Given the description of an element on the screen output the (x, y) to click on. 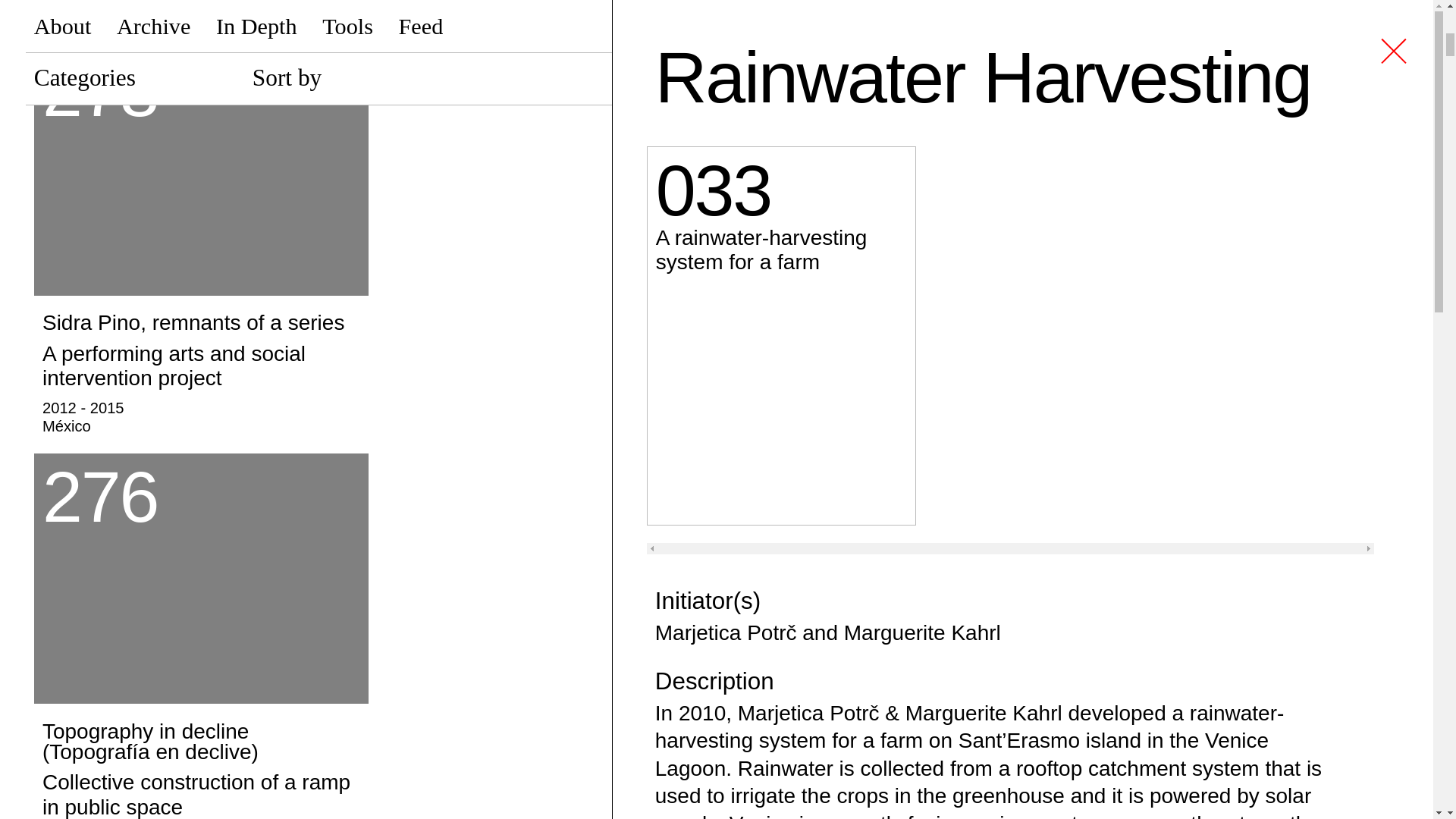
The Para-Site School (200, 14)
Sidra Pino, remnants of a series (200, 170)
Sidra Pino, remnants of a series (200, 368)
